Given the description of an element on the screen output the (x, y) to click on. 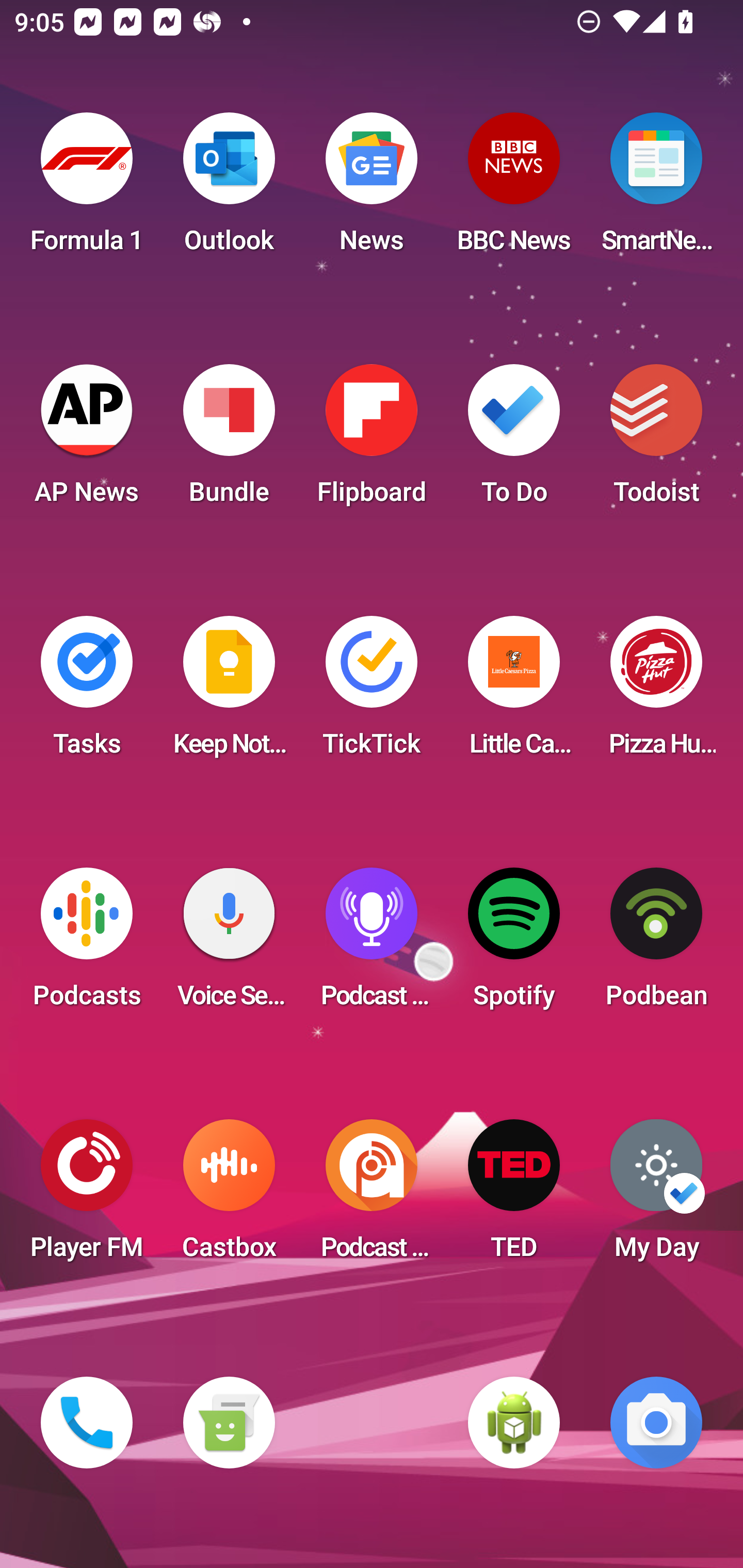
Formula 1 (86, 188)
Outlook (228, 188)
News (371, 188)
BBC News (513, 188)
SmartNews (656, 188)
AP News (86, 440)
Bundle (228, 440)
Flipboard (371, 440)
To Do (513, 440)
Todoist (656, 440)
Tasks (86, 692)
Keep Notes (228, 692)
TickTick (371, 692)
Little Caesars Pizza (513, 692)
Pizza Hut HK & Macau (656, 692)
Podcasts (86, 943)
Voice Search (228, 943)
Podcast Player (371, 943)
Spotify (513, 943)
Podbean (656, 943)
Player FM (86, 1195)
Castbox (228, 1195)
Podcast Addict (371, 1195)
TED (513, 1195)
My Day (656, 1195)
Phone (86, 1422)
Messaging (228, 1422)
WebView Browser Tester (513, 1422)
Camera (656, 1422)
